Given the description of an element on the screen output the (x, y) to click on. 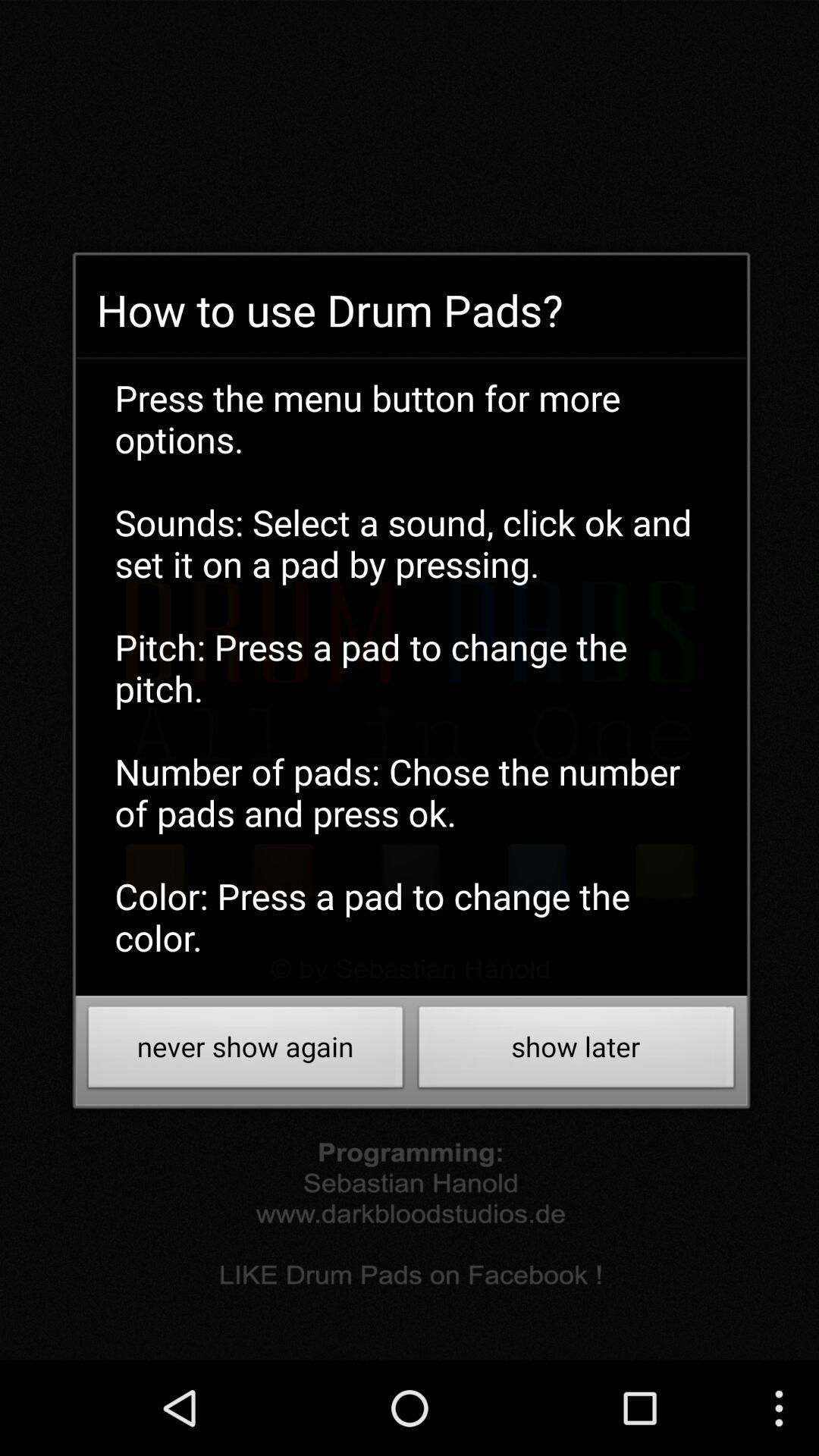
choose the show later icon (576, 1051)
